Given the description of an element on the screen output the (x, y) to click on. 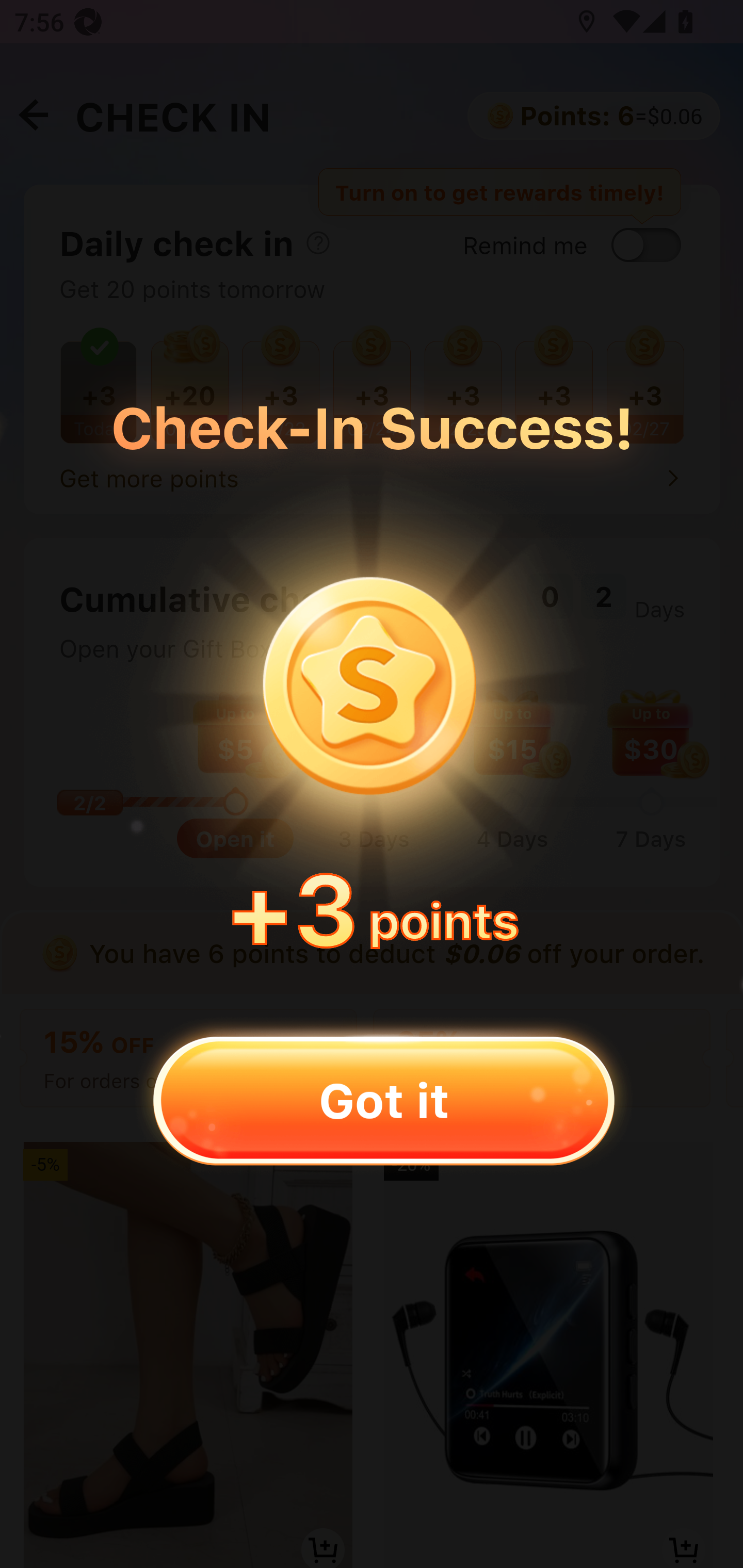
Got it (383, 1099)
